Given the description of an element on the screen output the (x, y) to click on. 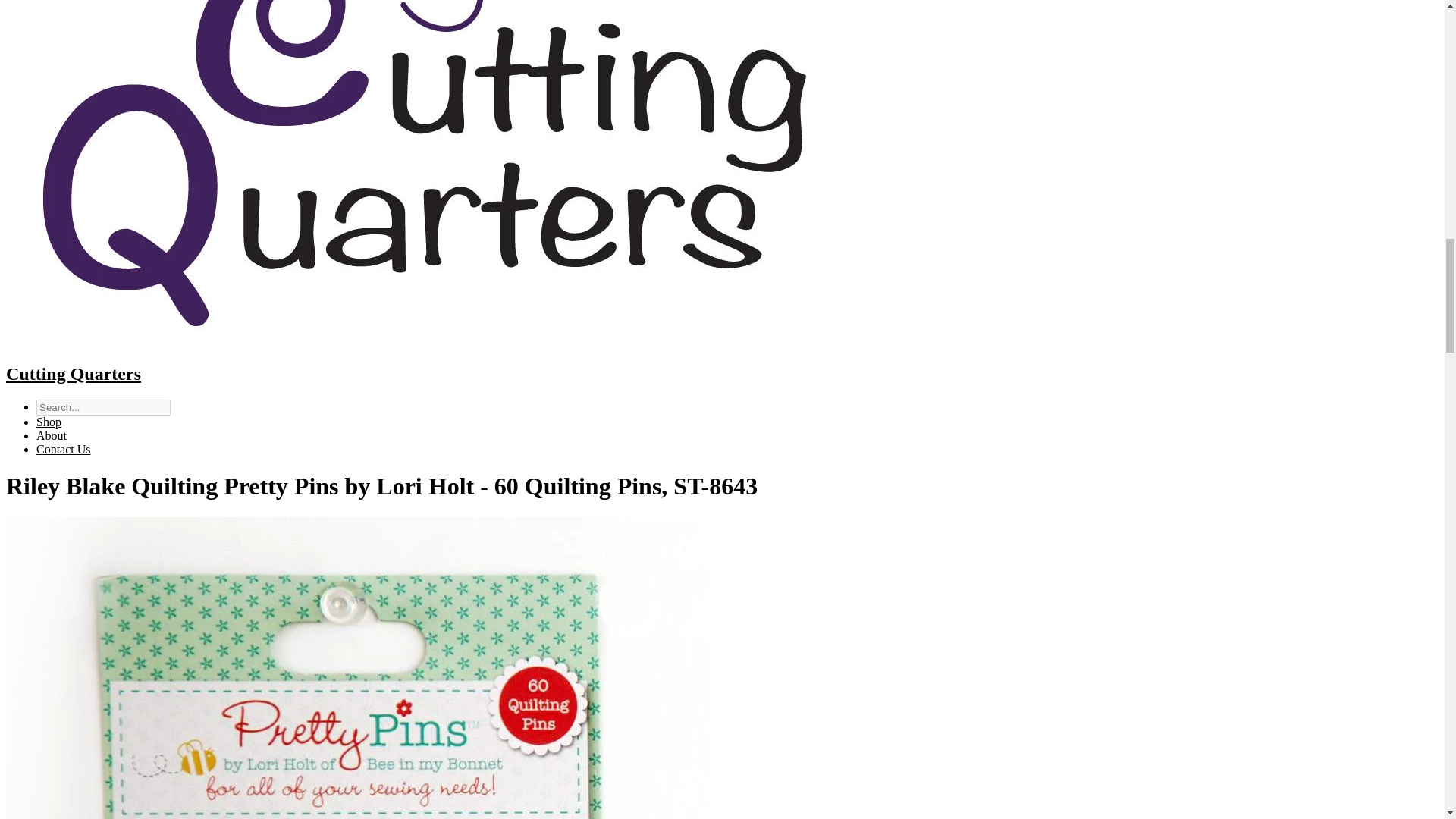
Contact Us (63, 449)
About (51, 435)
Shop (48, 421)
